Given the description of an element on the screen output the (x, y) to click on. 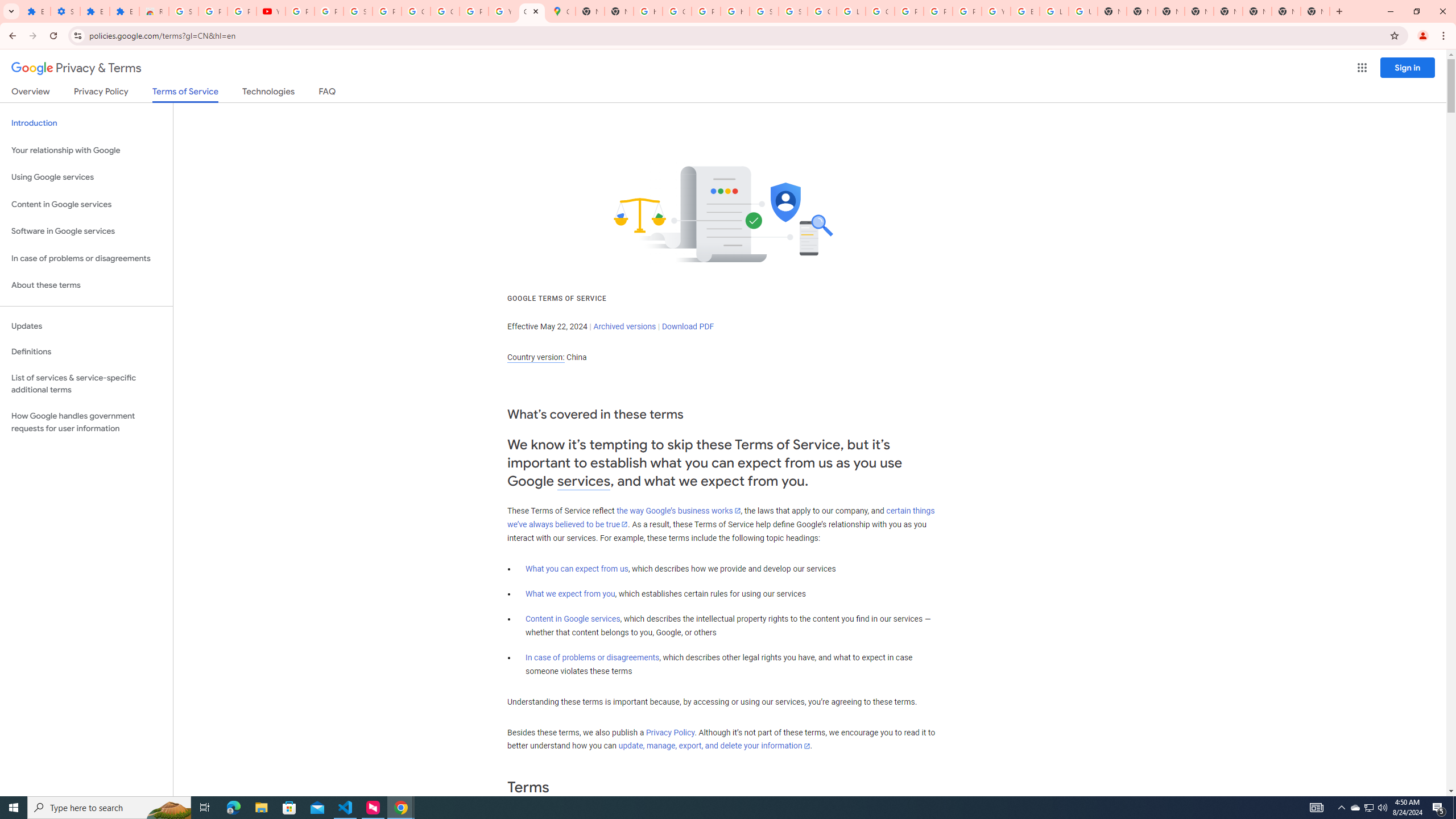
Extensions (35, 11)
Using Google services (86, 176)
https://scholar.google.com/ (648, 11)
Privacy Help Center - Policies Help (908, 11)
How Google handles government requests for user information (86, 422)
Extensions (95, 11)
